Given the description of an element on the screen output the (x, y) to click on. 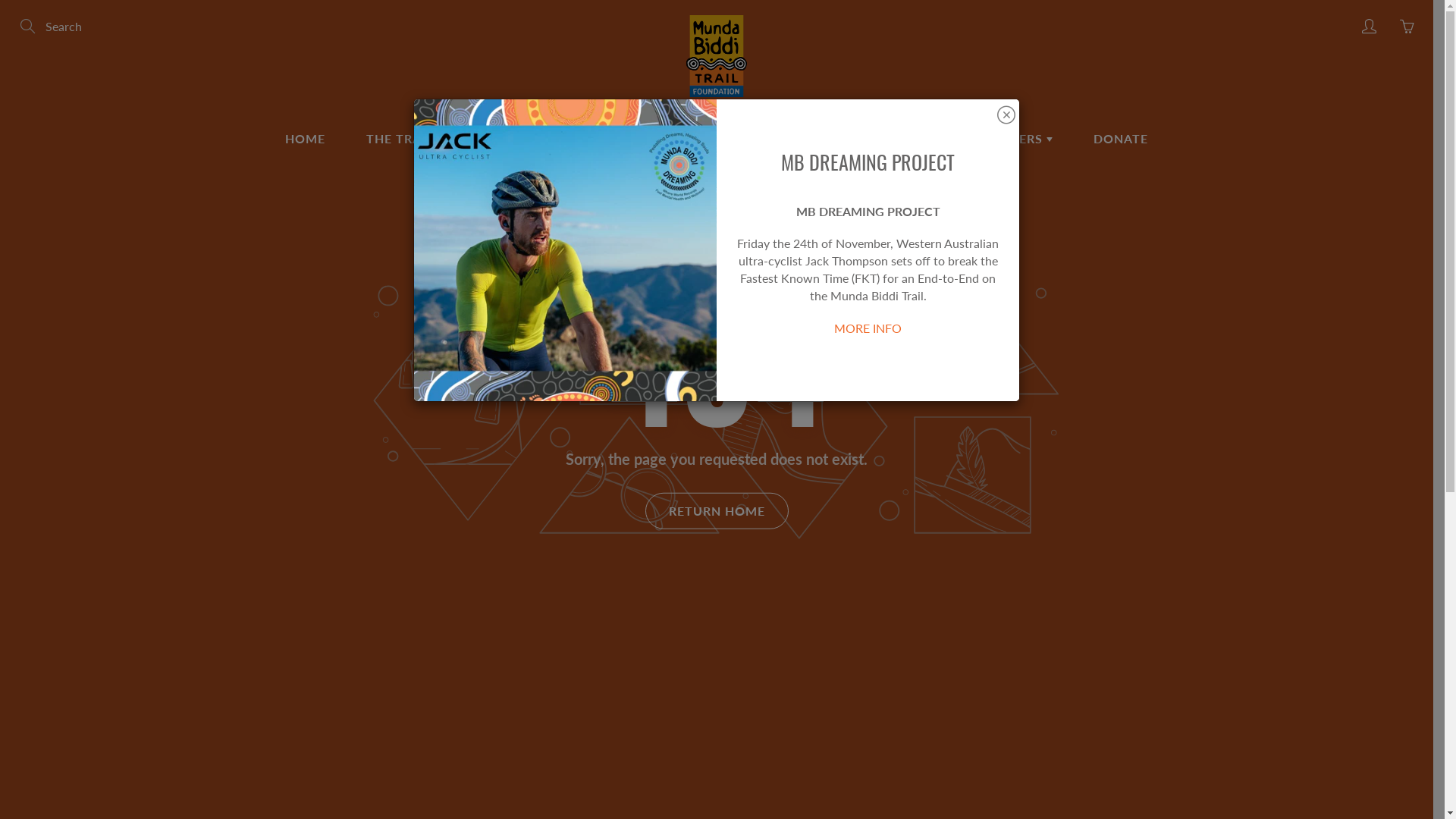
Search Element type: text (28, 26)
EVENTS Element type: text (653, 138)
MORE INFO Element type: text (867, 327)
VOLUNTEERS Element type: text (1004, 138)
RETURN HOME Element type: text (715, 510)
You have 0 items in your cart Element type: text (1406, 26)
THE TRAIL Element type: text (404, 138)
My account Element type: text (1368, 26)
DONATE Element type: text (1120, 138)
HOME Element type: text (305, 138)
FOUNDATION Element type: text (533, 138)
BIDDI SHOP Element type: text (872, 138)
JOIN US Element type: text (756, 138)
